Given the description of an element on the screen output the (x, y) to click on. 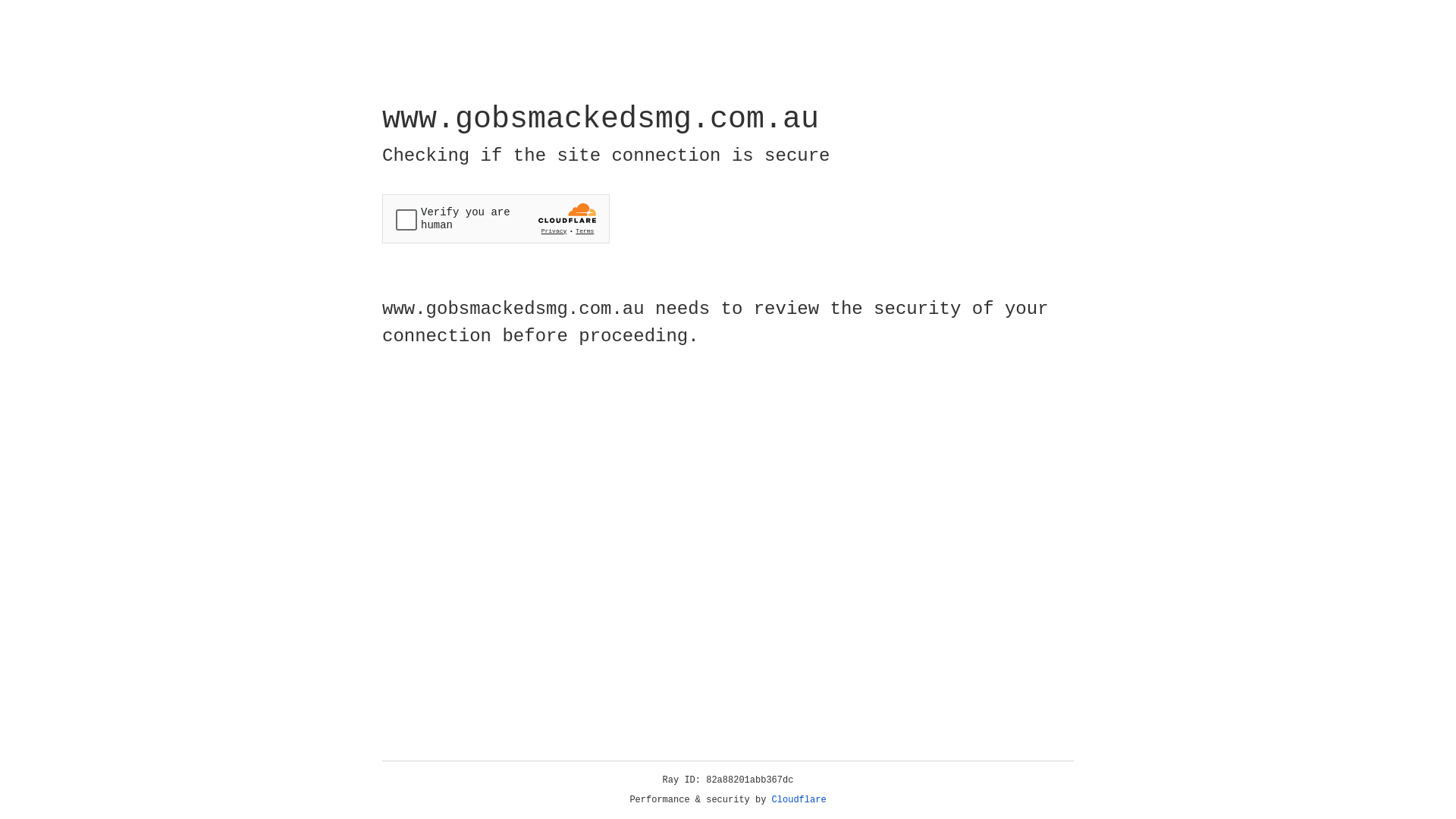
Widget containing a Cloudflare security challenge Element type: hover (495, 218)
Cloudflare Element type: text (798, 799)
